Given the description of an element on the screen output the (x, y) to click on. 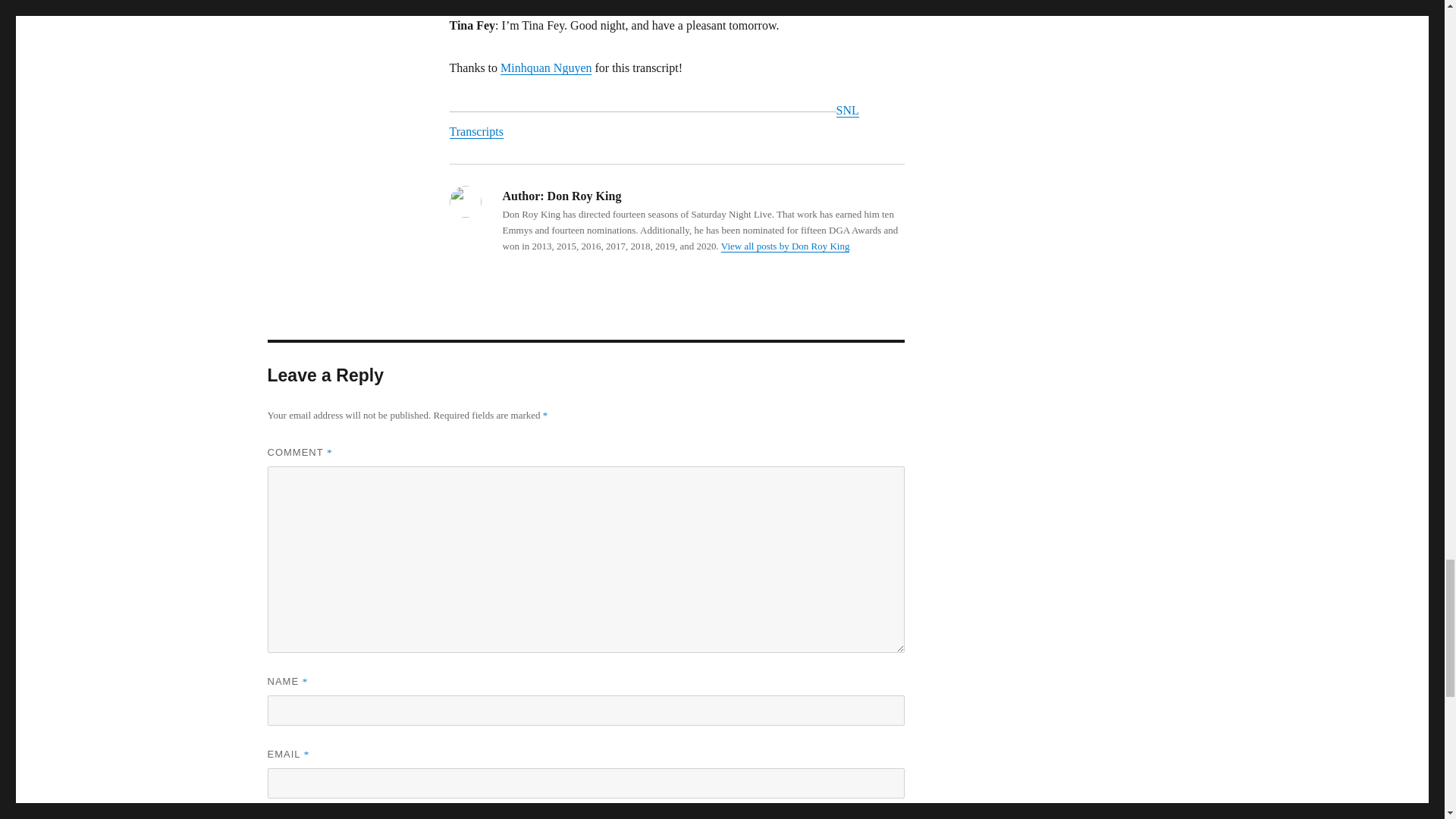
View all posts by Don Roy King (785, 245)
SNL Transcripts (653, 121)
Minhquan Nguyen (545, 67)
